Given the description of an element on the screen output the (x, y) to click on. 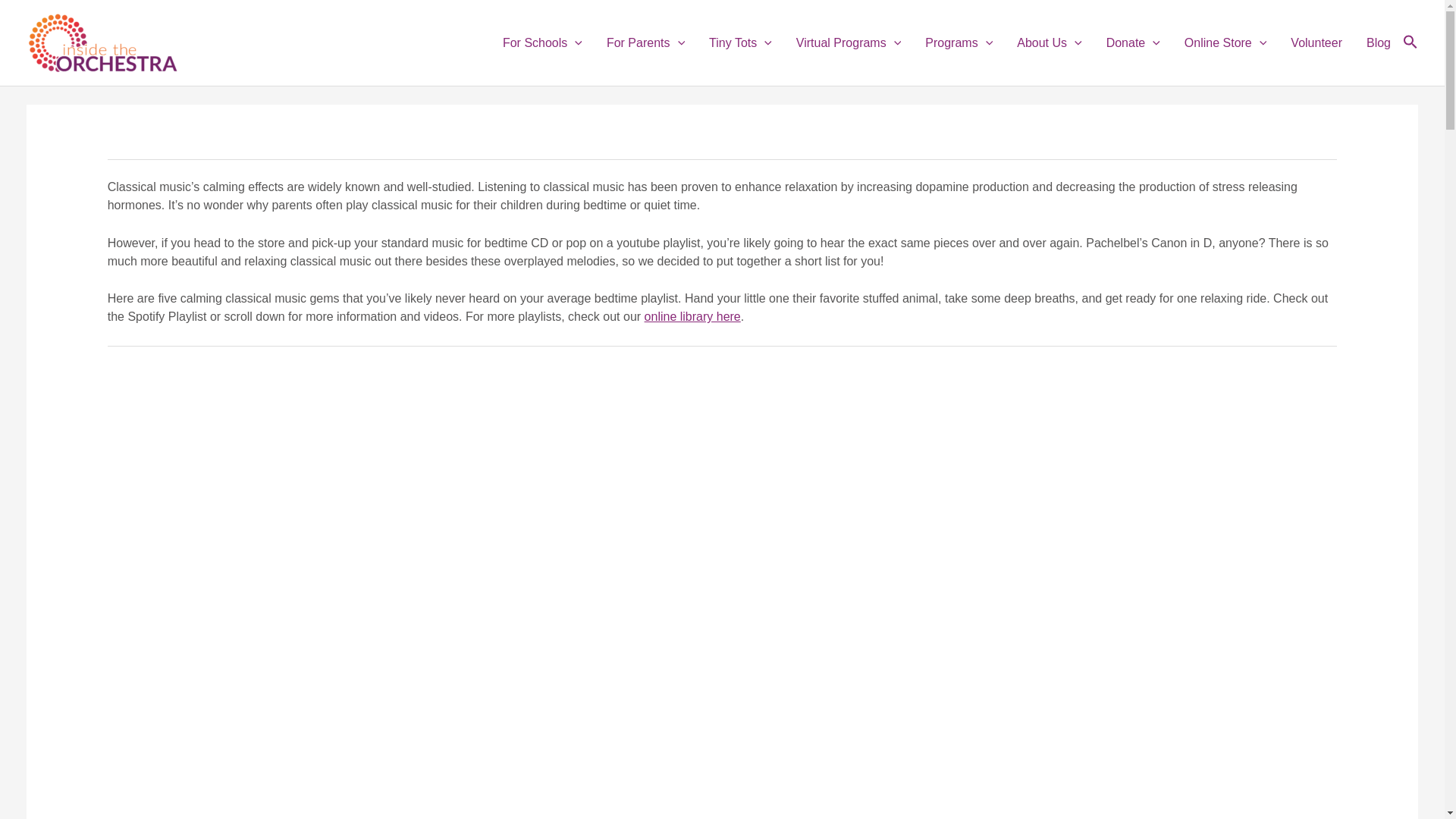
For Schools (542, 42)
Virtual Programs (848, 42)
Tiny Tots (740, 42)
For Parents (645, 42)
Programs (958, 42)
